Given the description of an element on the screen output the (x, y) to click on. 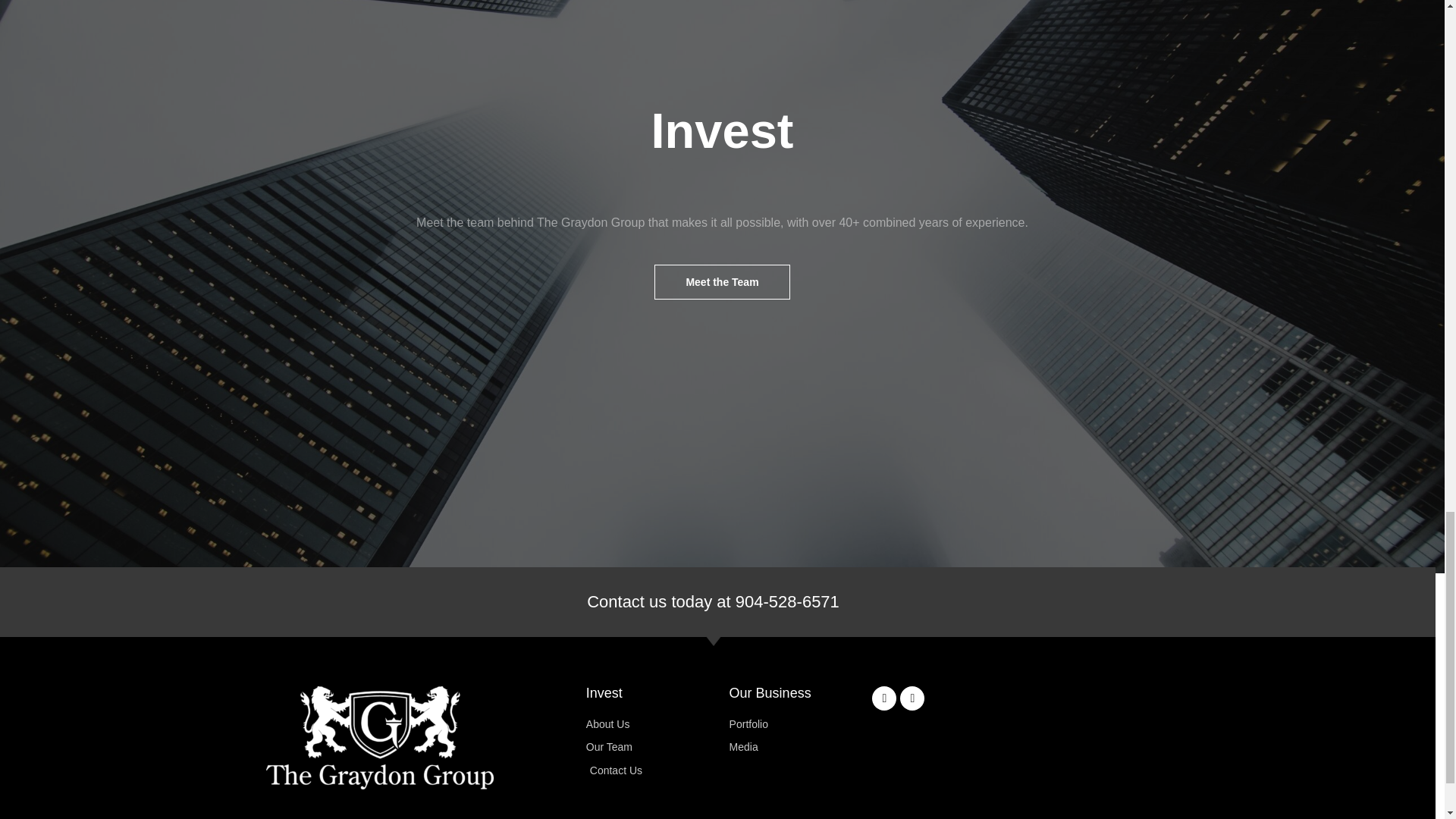
Portfolio (800, 723)
Meet the Team (721, 281)
About Us (657, 723)
Contact Us (657, 770)
Our Team (657, 746)
Media (800, 746)
